Given the description of an element on the screen output the (x, y) to click on. 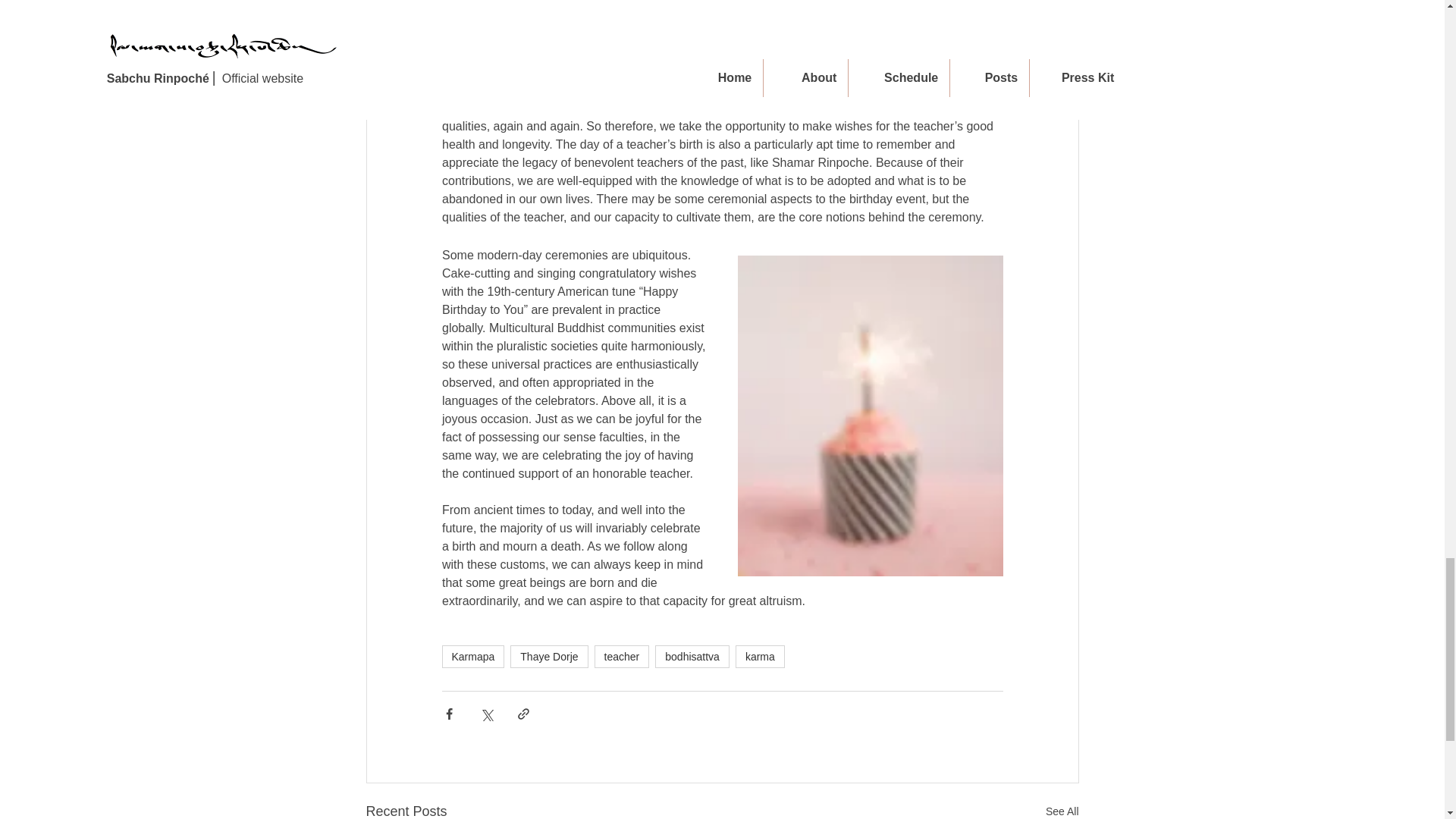
Karmapa (472, 656)
karma (759, 656)
See All (1061, 809)
Thaye Dorje (549, 656)
teacher (621, 656)
bodhisattva (692, 656)
